Given the description of an element on the screen output the (x, y) to click on. 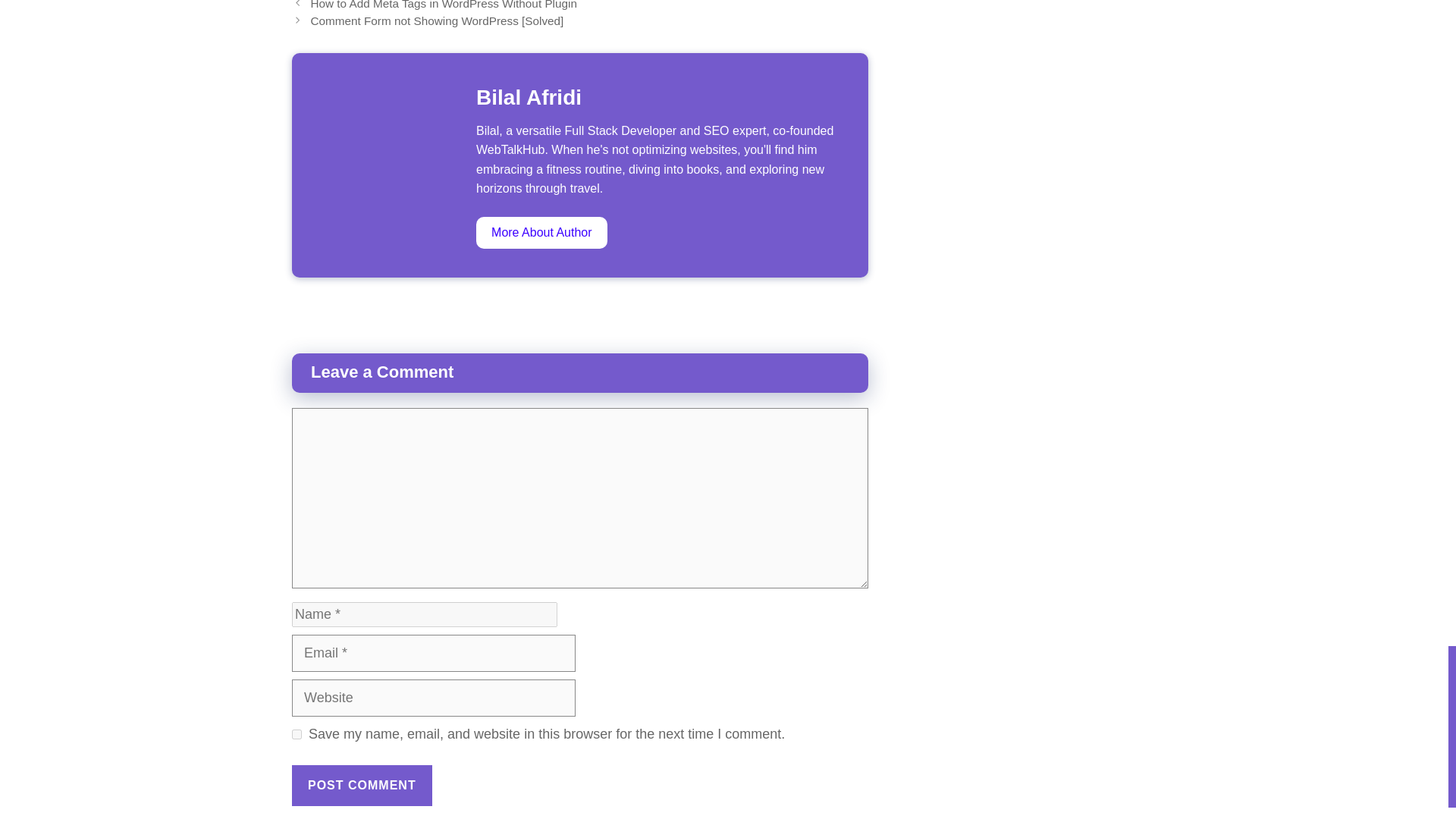
Post Comment (362, 784)
How to Add Meta Tags in WordPress Without Plugin (443, 4)
More About Author (541, 232)
Read more about this author (541, 232)
yes (296, 734)
Post Comment (362, 784)
